Given the description of an element on the screen output the (x, y) to click on. 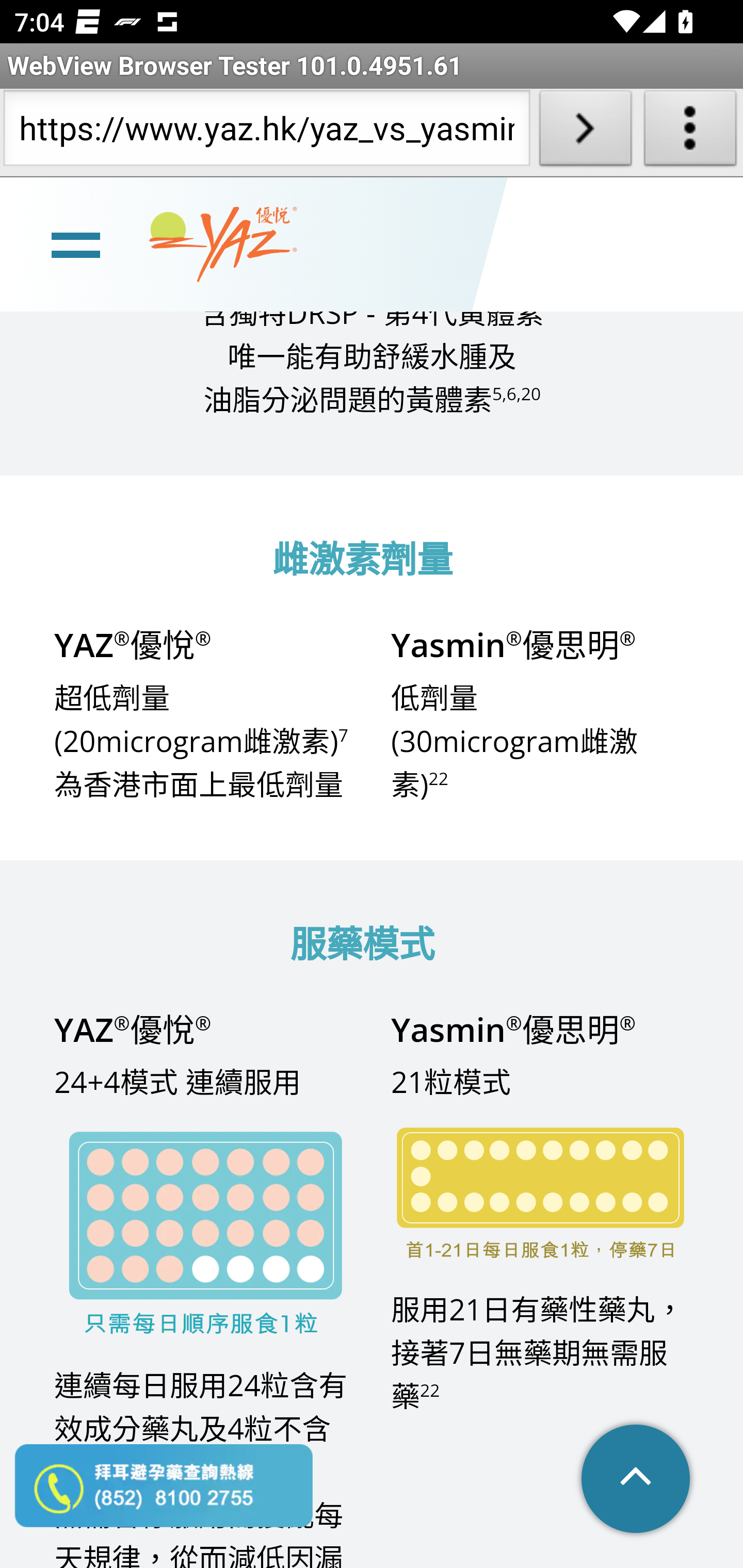
Load URL (585, 132)
About WebView (690, 132)
www.yaz (222, 244)
line Toggle burger menu (75, 243)
 (636, 1480)
